Given the description of an element on the screen output the (x, y) to click on. 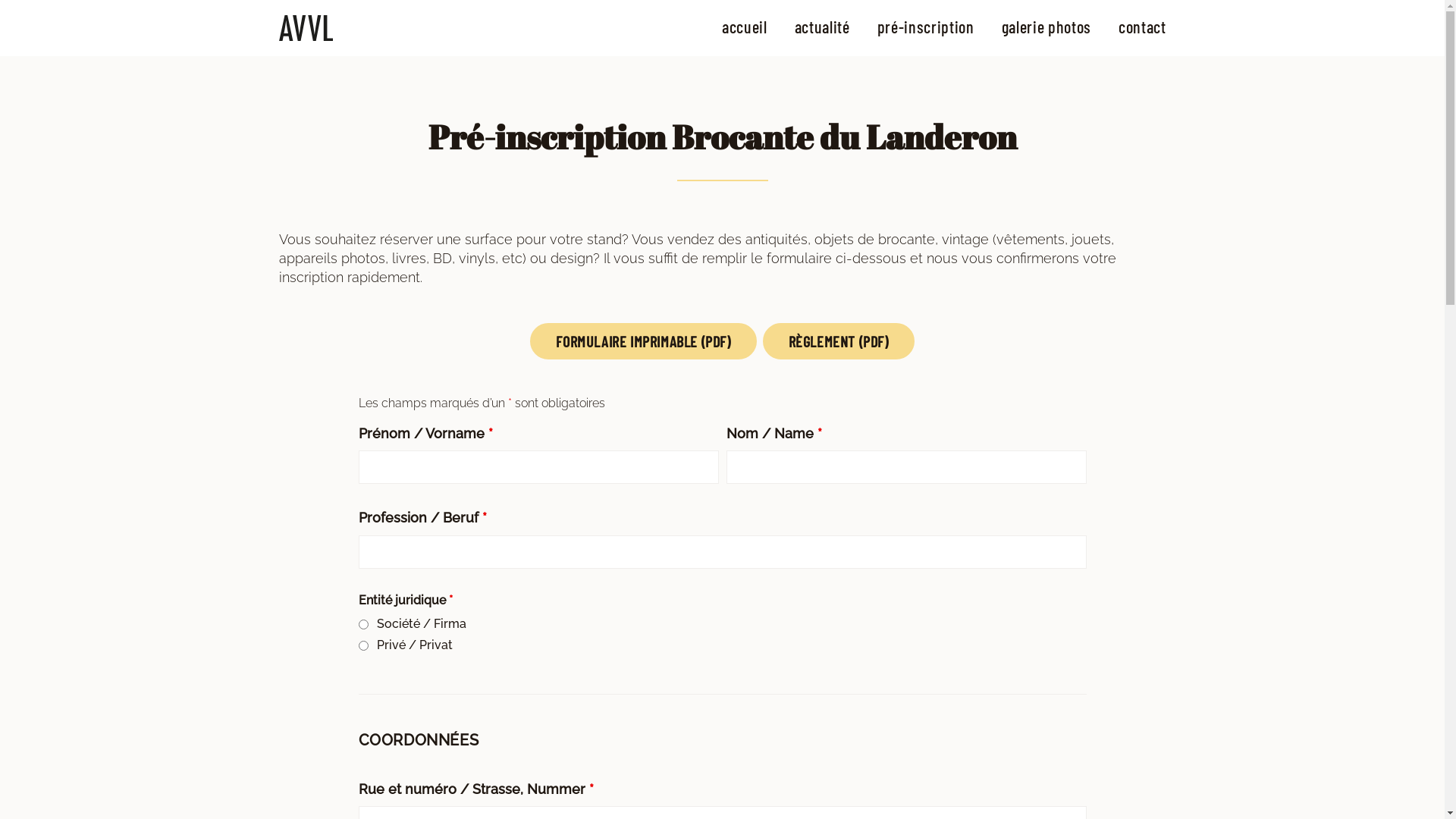
contact Element type: text (1142, 26)
accueil Element type: text (744, 26)
FORMULAIRE IMPRIMABLE (PDF) Element type: text (643, 341)
galerie photos Element type: text (1046, 26)
